Given the description of an element on the screen output the (x, y) to click on. 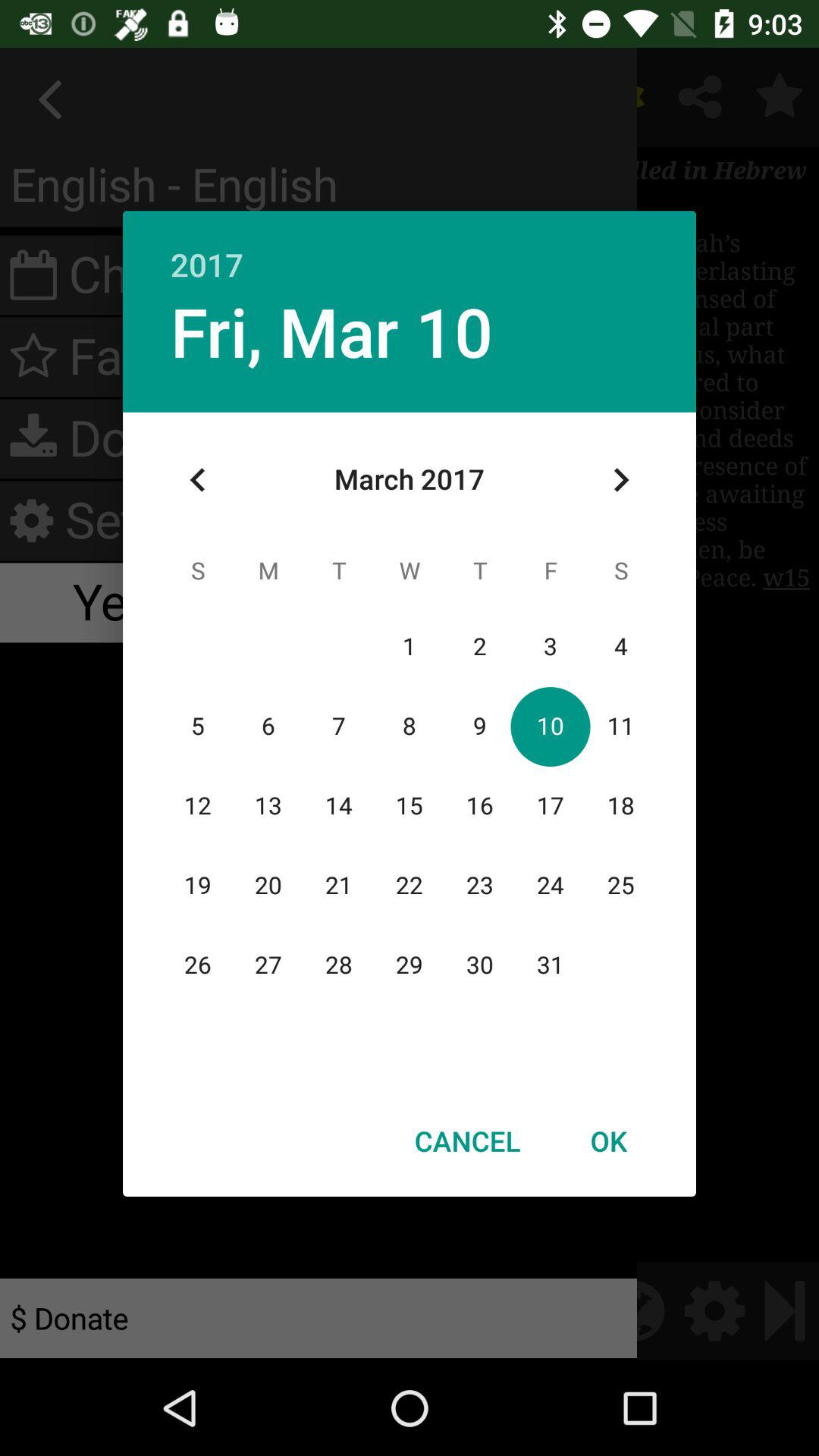
jump until ok icon (608, 1140)
